Given the description of an element on the screen output the (x, y) to click on. 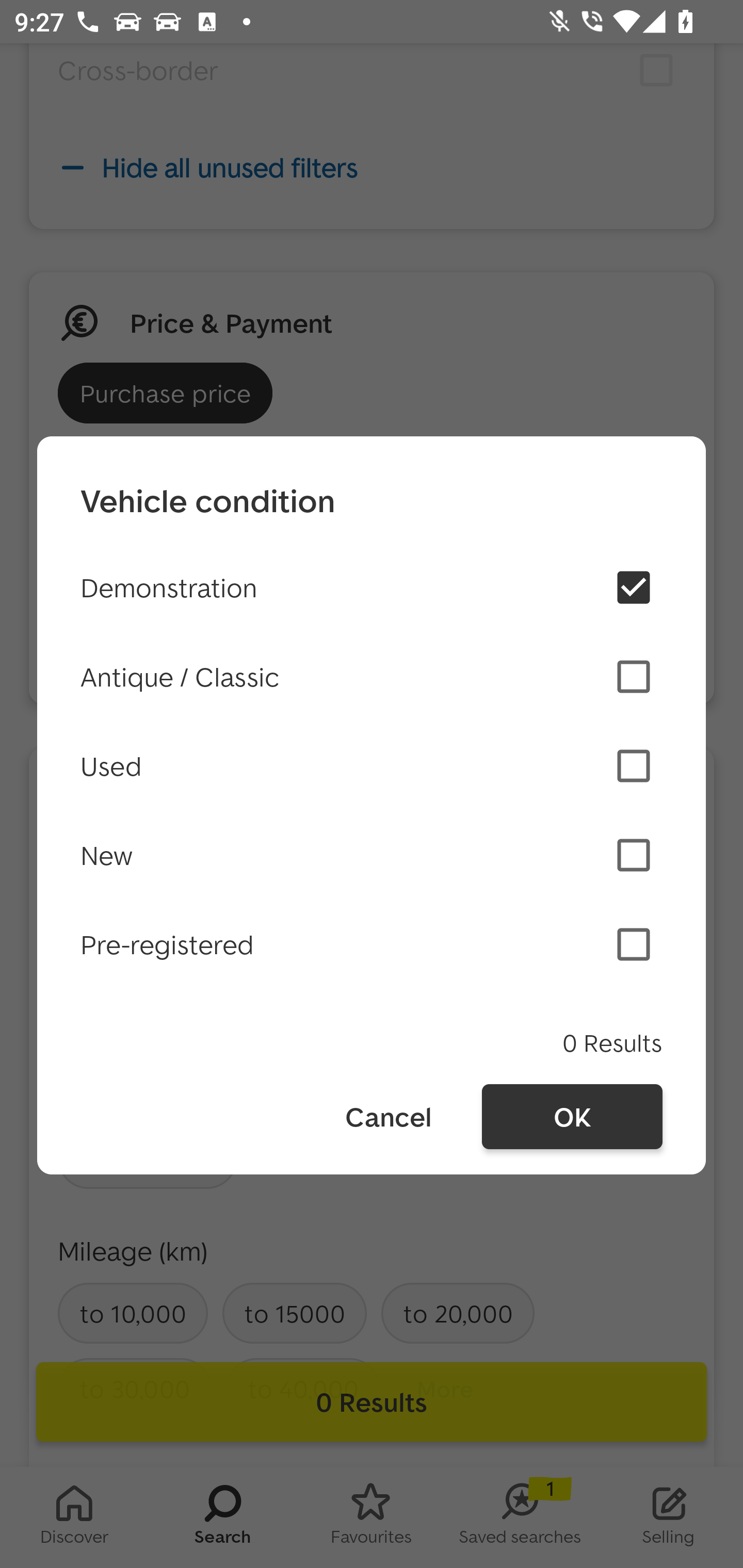
Demonstration (371, 586)
Antique / Classic (371, 676)
Used (371, 765)
New (371, 855)
Pre-registered (371, 944)
Cancel (387, 1117)
OK (572, 1117)
